Given the description of an element on the screen output the (x, y) to click on. 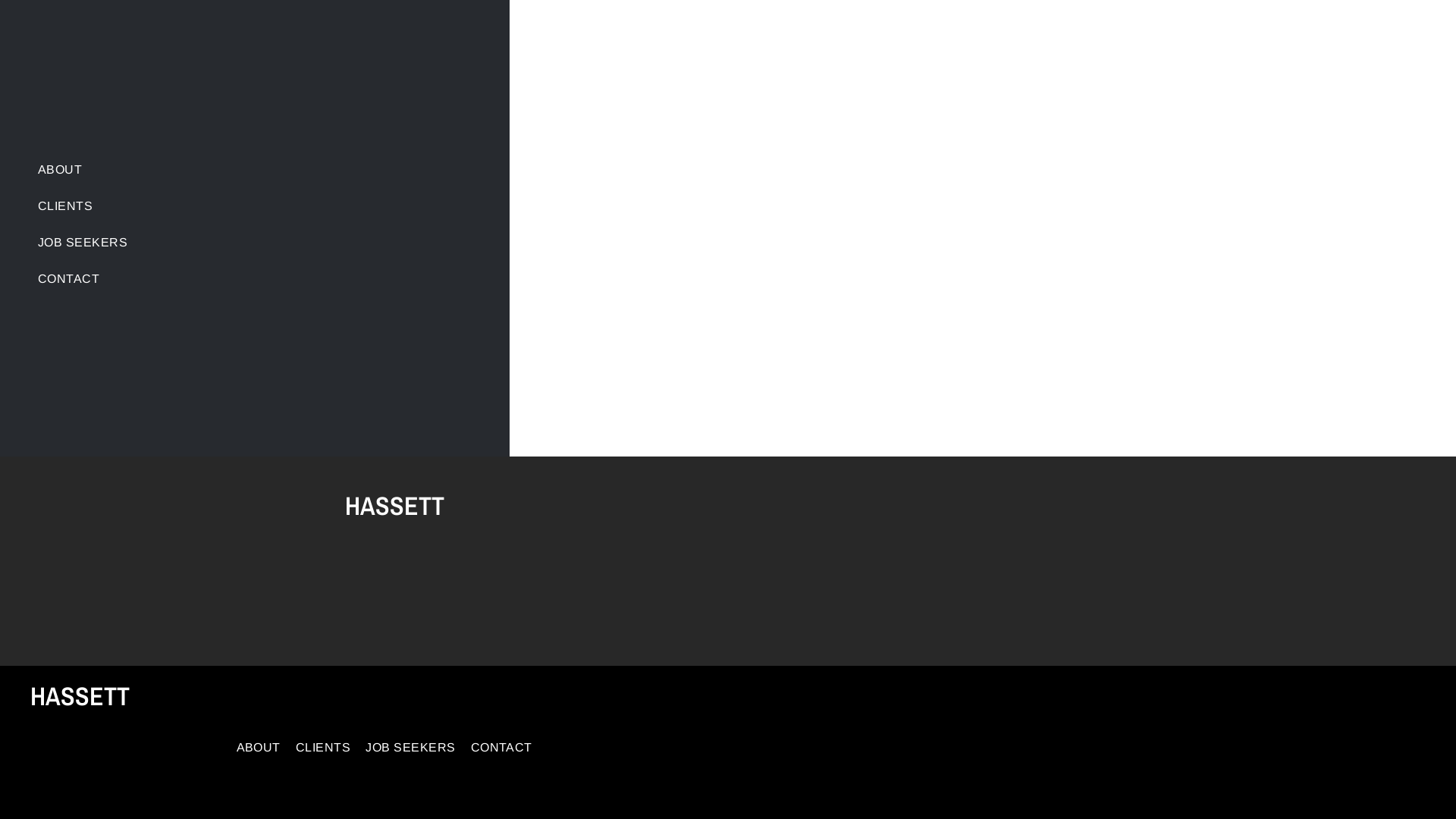
CLIENTS Element type: text (326, 747)
HASSETT Element type: text (79, 695)
JOB SEEKERS Element type: text (413, 747)
CLIENTS Element type: text (292, 206)
CONTACT Element type: text (501, 747)
CONTACT Element type: text (292, 278)
JOB SEEKERS Element type: text (292, 242)
HASSETT Element type: text (393, 505)
ABOUT Element type: text (261, 747)
ABOUT Element type: text (292, 169)
